Given the description of an element on the screen output the (x, y) to click on. 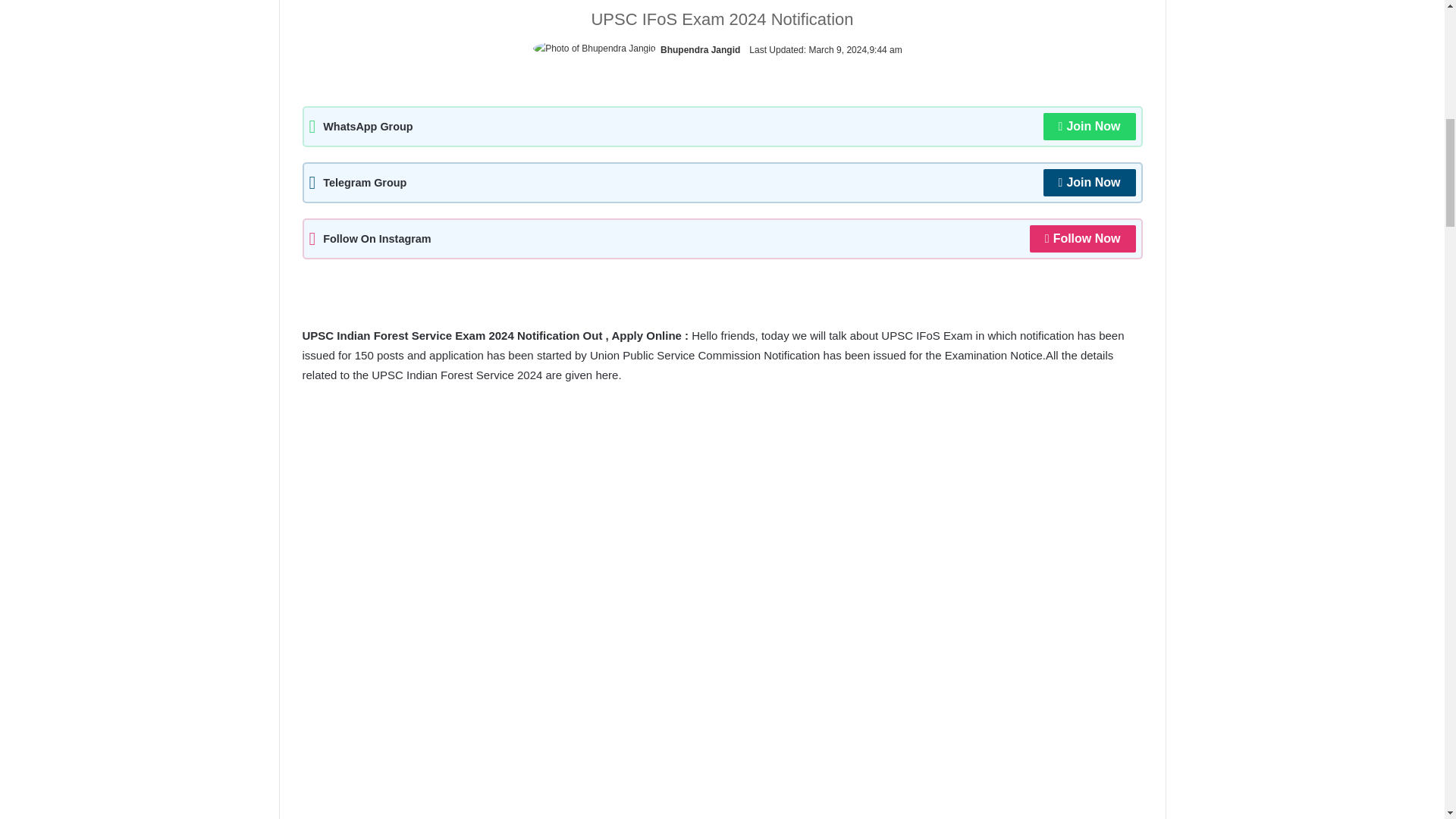
Follow Now (1082, 238)
Bhupendra Jangid (700, 50)
Join Now (1089, 182)
Bhupendra Jangid (700, 50)
Join Now (1089, 126)
